Given the description of an element on the screen output the (x, y) to click on. 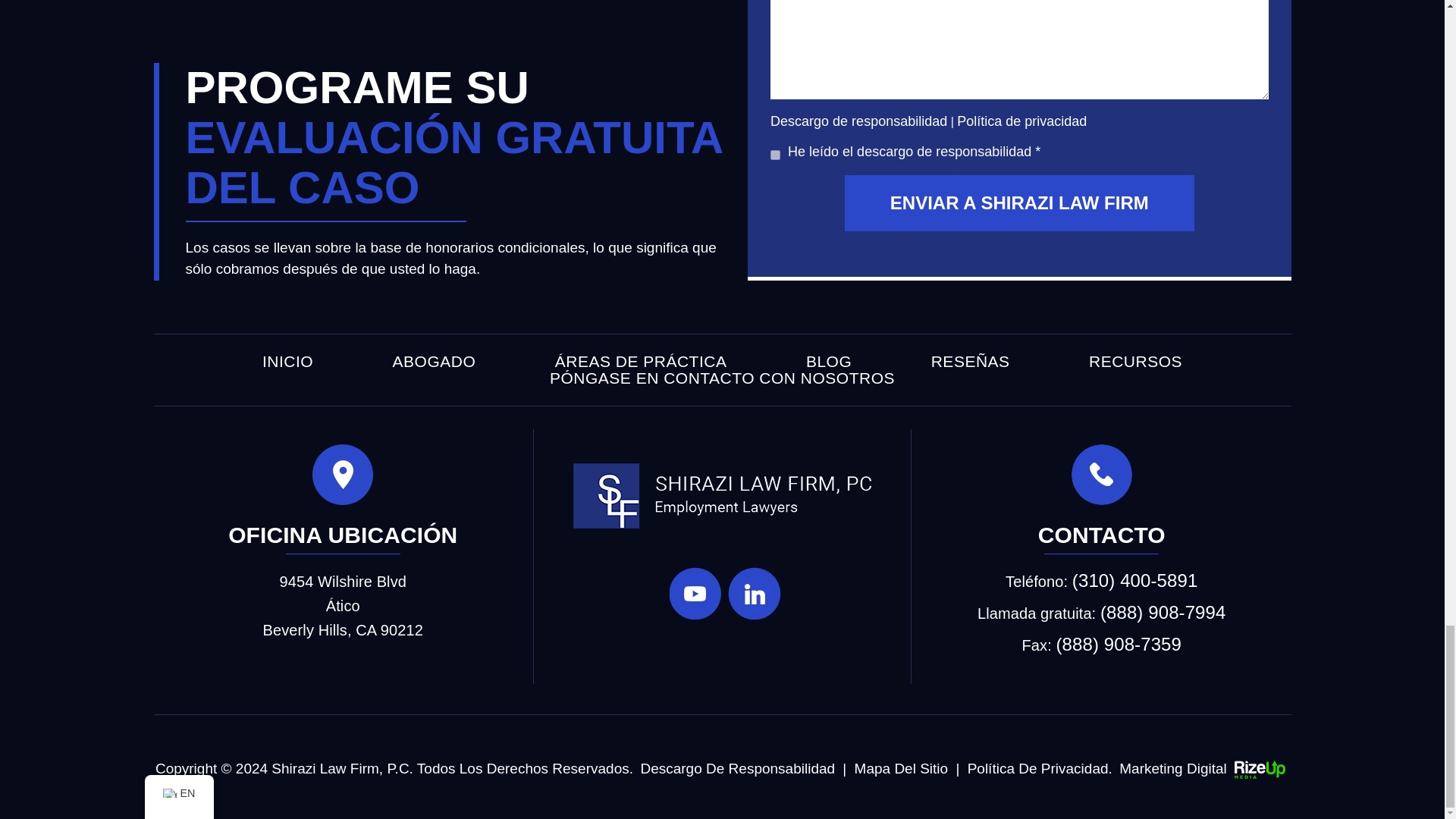
Enviar a Shirazi Law Firm (1018, 202)
